Given the description of an element on the screen output the (x, y) to click on. 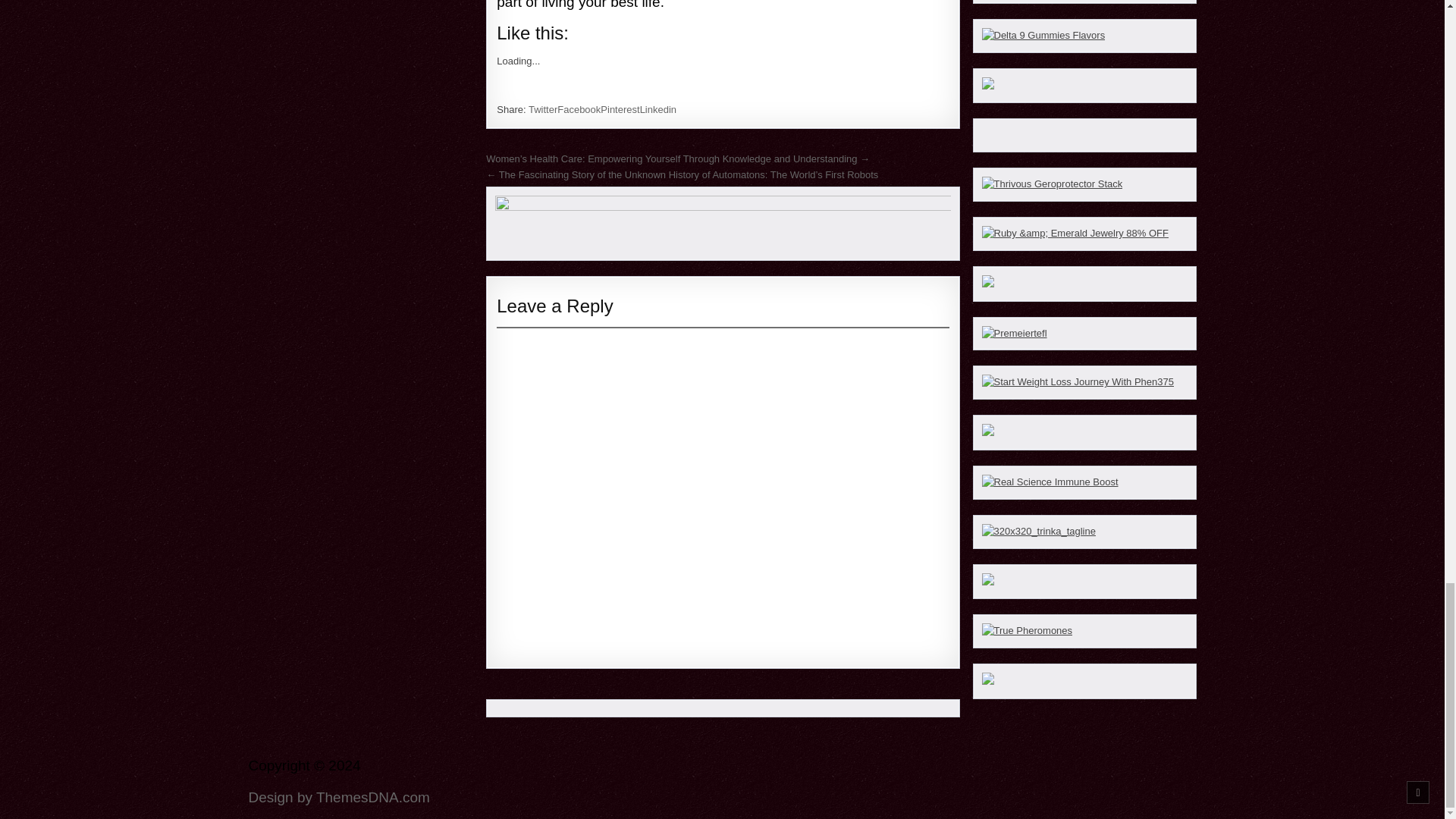
Share this on Linkedin (658, 109)
Share this on Facebook (578, 109)
Share this on Pinterest (619, 109)
Tweet This! (542, 109)
